Given the description of an element on the screen output the (x, y) to click on. 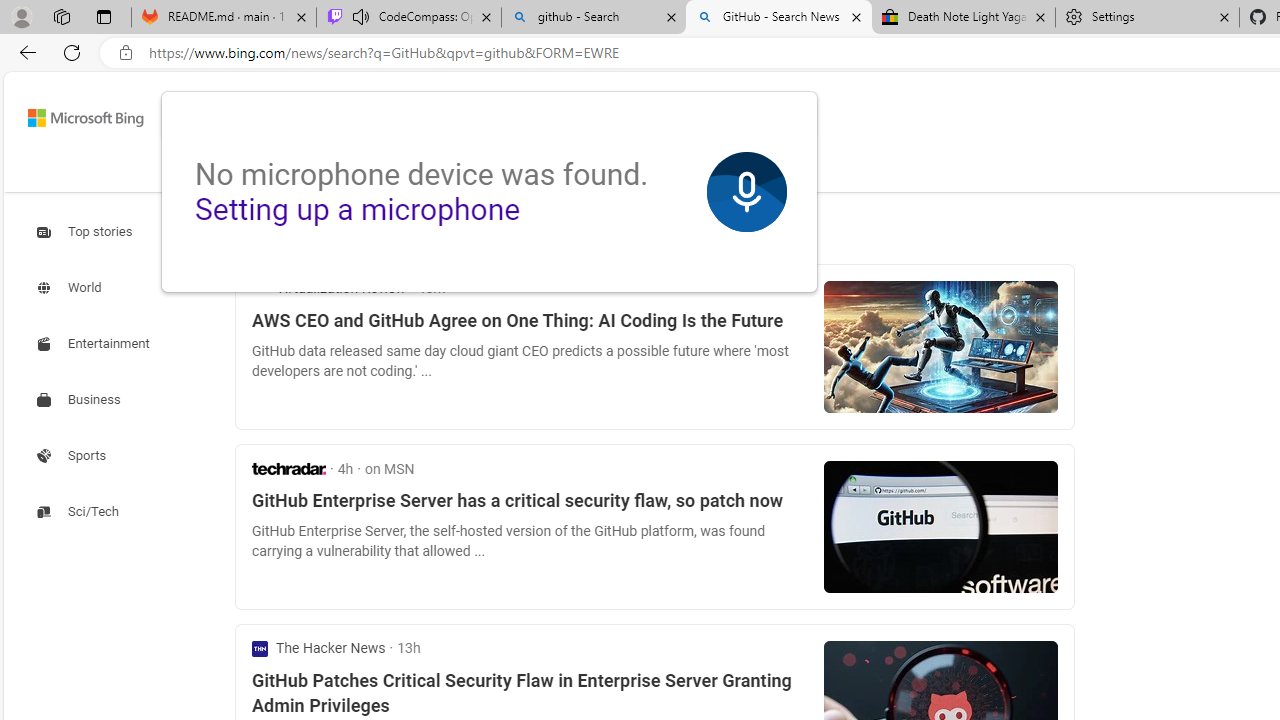
SEARCH (219, 170)
Search button (786, 117)
Search news about World (71, 288)
COPILOT (311, 173)
MORE (696, 173)
NEWS (618, 170)
Search news from The Hacker News (319, 648)
Any time (283, 232)
VIDEOS (473, 170)
